Given the description of an element on the screen output the (x, y) to click on. 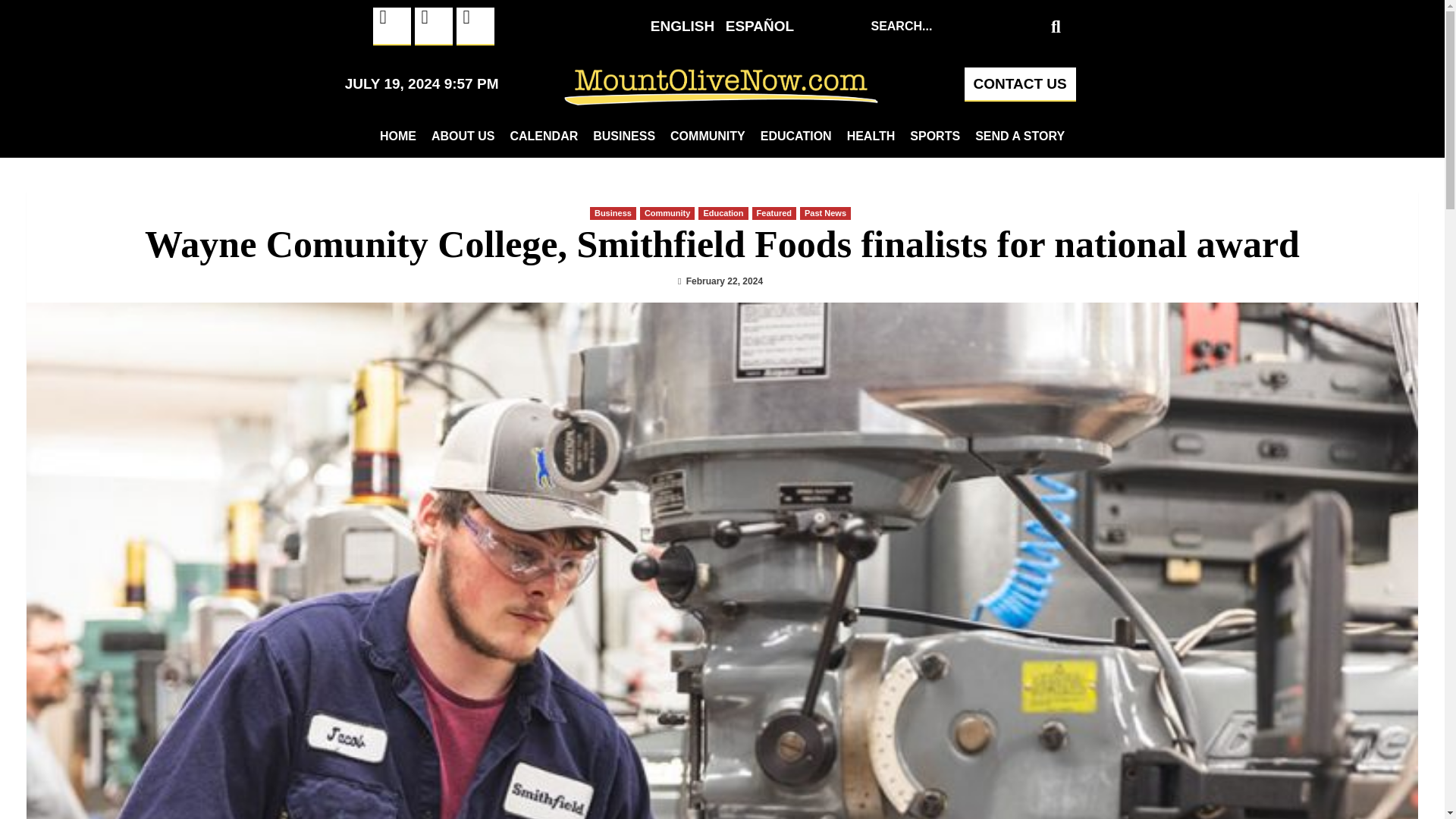
English (681, 25)
ENGLISH (681, 25)
CONTACT US (1019, 84)
CALENDAR (543, 135)
BUSINESS (623, 135)
COMMUNITY (707, 135)
Community (667, 213)
February 22, 2024 (723, 281)
EDUCATION (796, 135)
Search (954, 26)
SPORTS (935, 135)
Business (612, 213)
HOME (397, 135)
Featured (774, 213)
ABOUT US (462, 135)
